Given the description of an element on the screen output the (x, y) to click on. 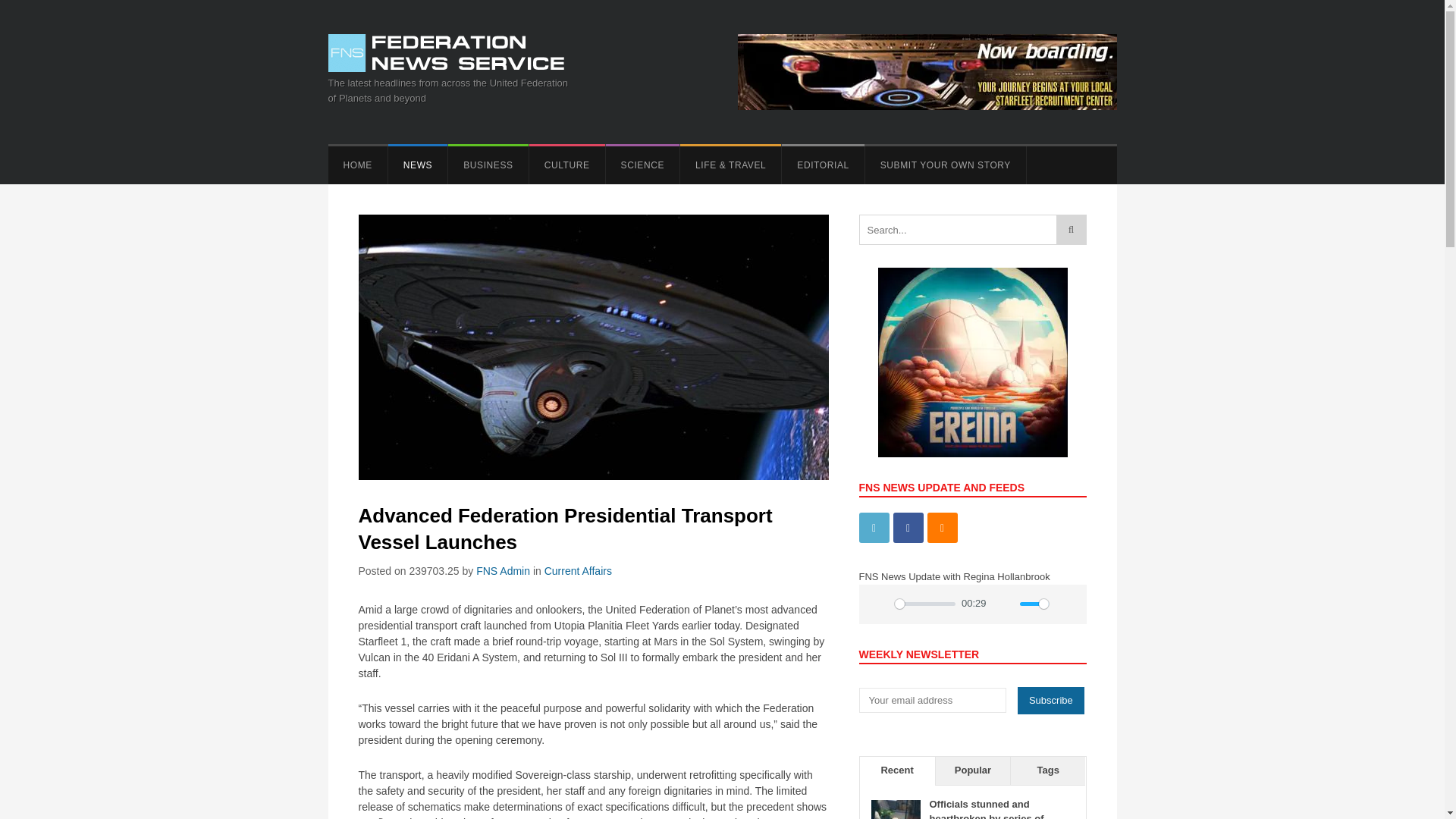
BUSINESS (487, 165)
FNS Admin (502, 571)
Posts by FNS Admin (502, 571)
EDITORIAL (822, 165)
CULTURE (567, 165)
Current Affairs (577, 571)
HOME (357, 165)
NEWS (417, 165)
Federation News Service (450, 53)
1 (1034, 603)
